Given the description of an element on the screen output the (x, y) to click on. 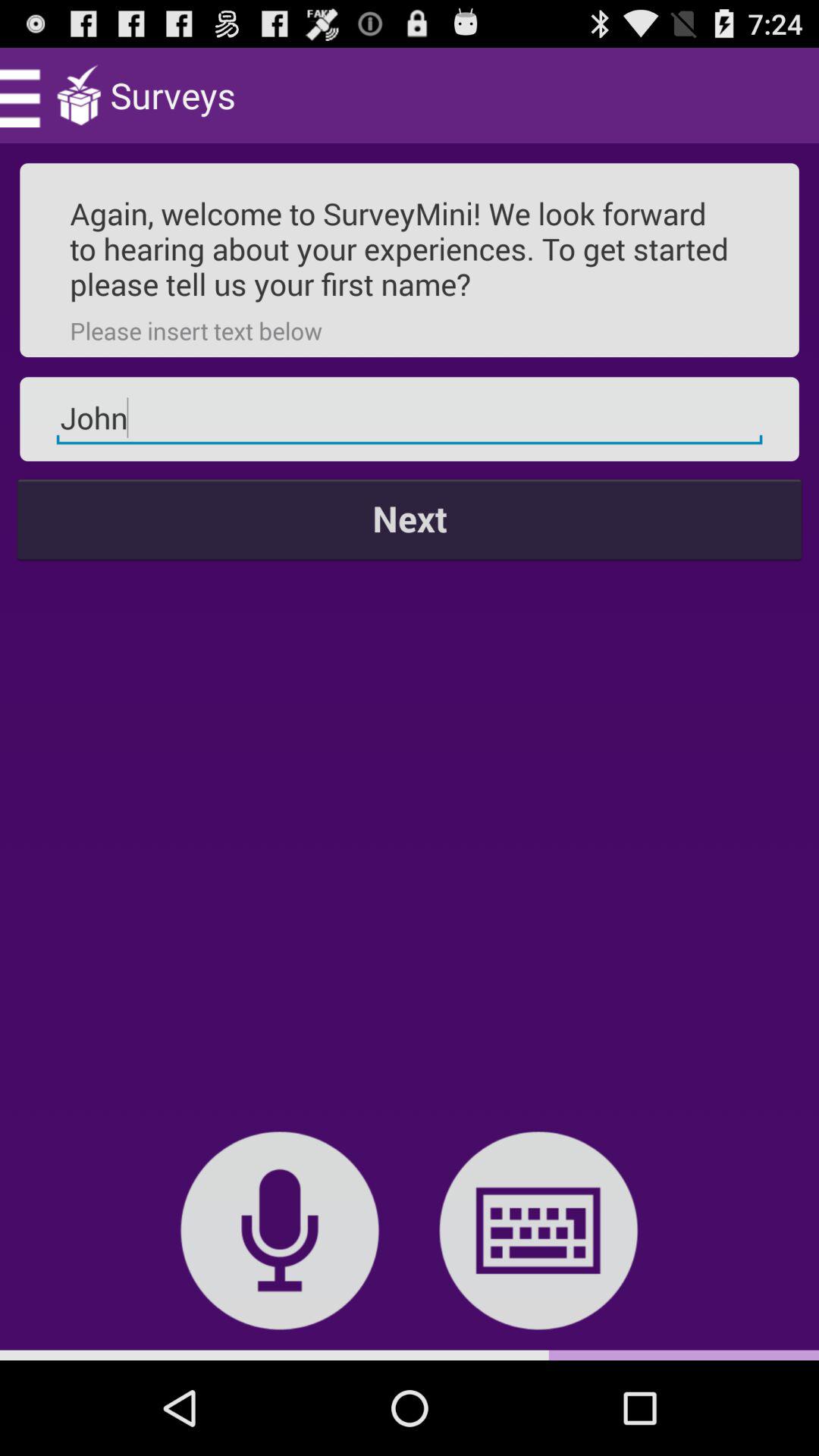
turn off next item (409, 518)
